Given the description of an element on the screen output the (x, y) to click on. 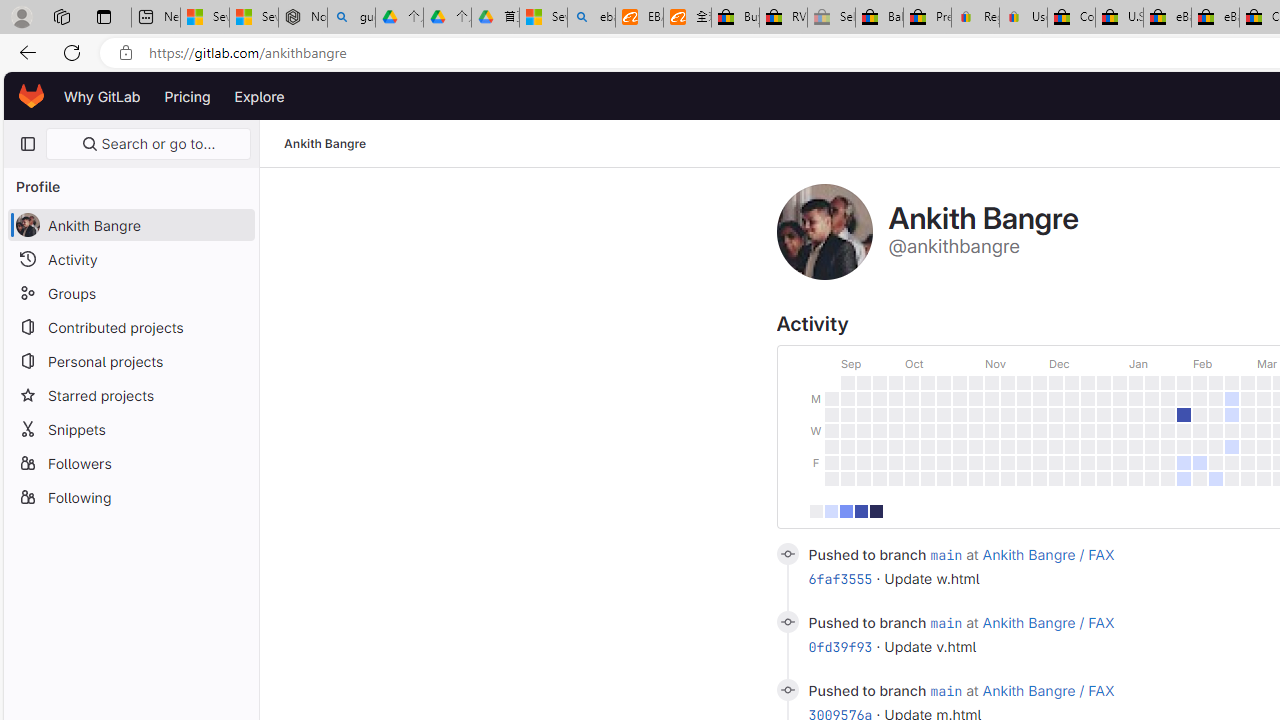
Starred projects (130, 394)
User profile picture (823, 232)
avatar Ankith Bangre (130, 224)
Homepage (31, 95)
Primary navigation sidebar (27, 143)
Press Room - eBay Inc. (927, 17)
